Given the description of an element on the screen output the (x, y) to click on. 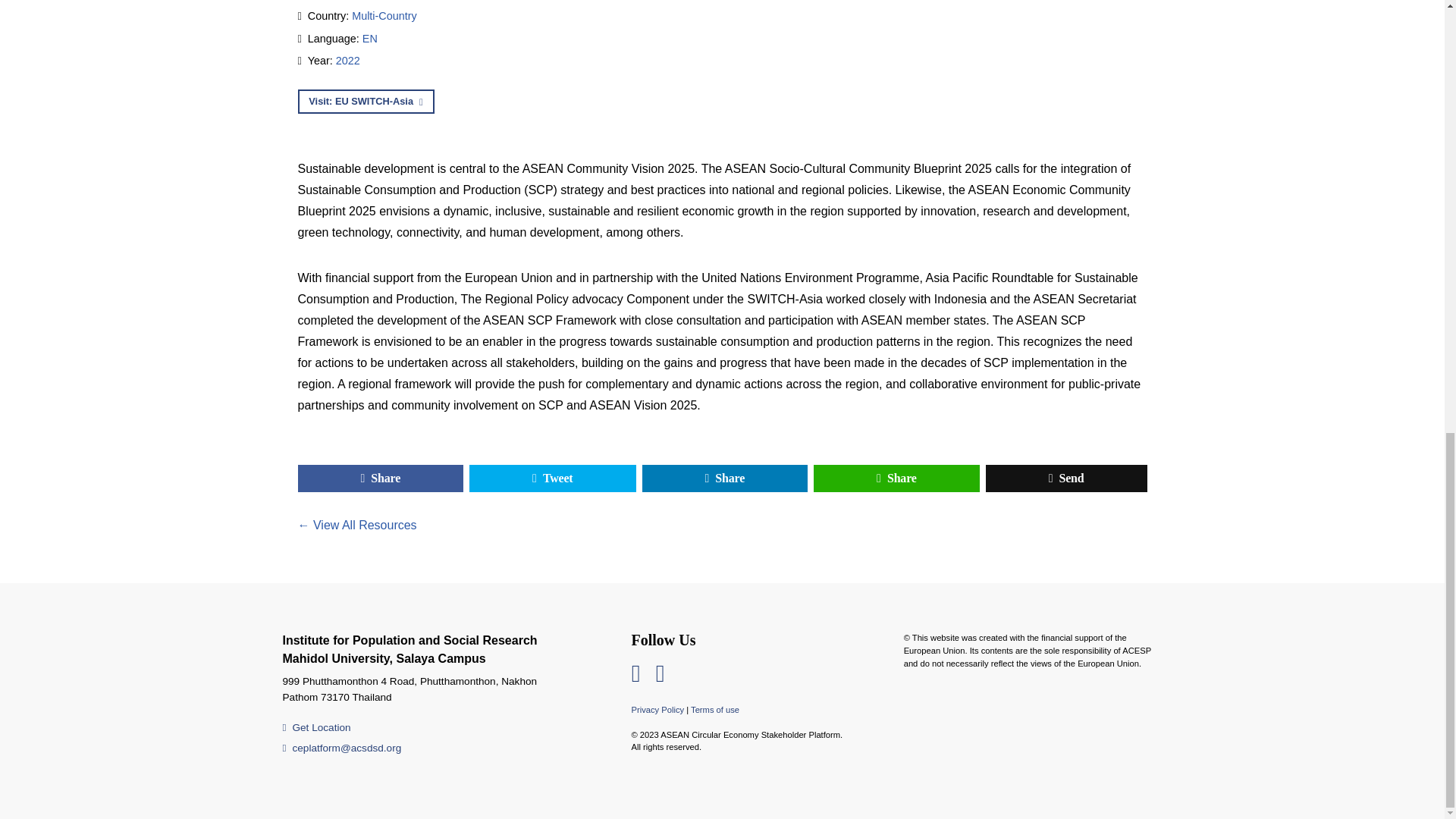
Email Us (341, 747)
Google Maps (316, 727)
View all posts in Multi-Country (384, 15)
View all posts in EN (369, 38)
View all posts in 2022 (347, 60)
